Given the description of an element on the screen output the (x, y) to click on. 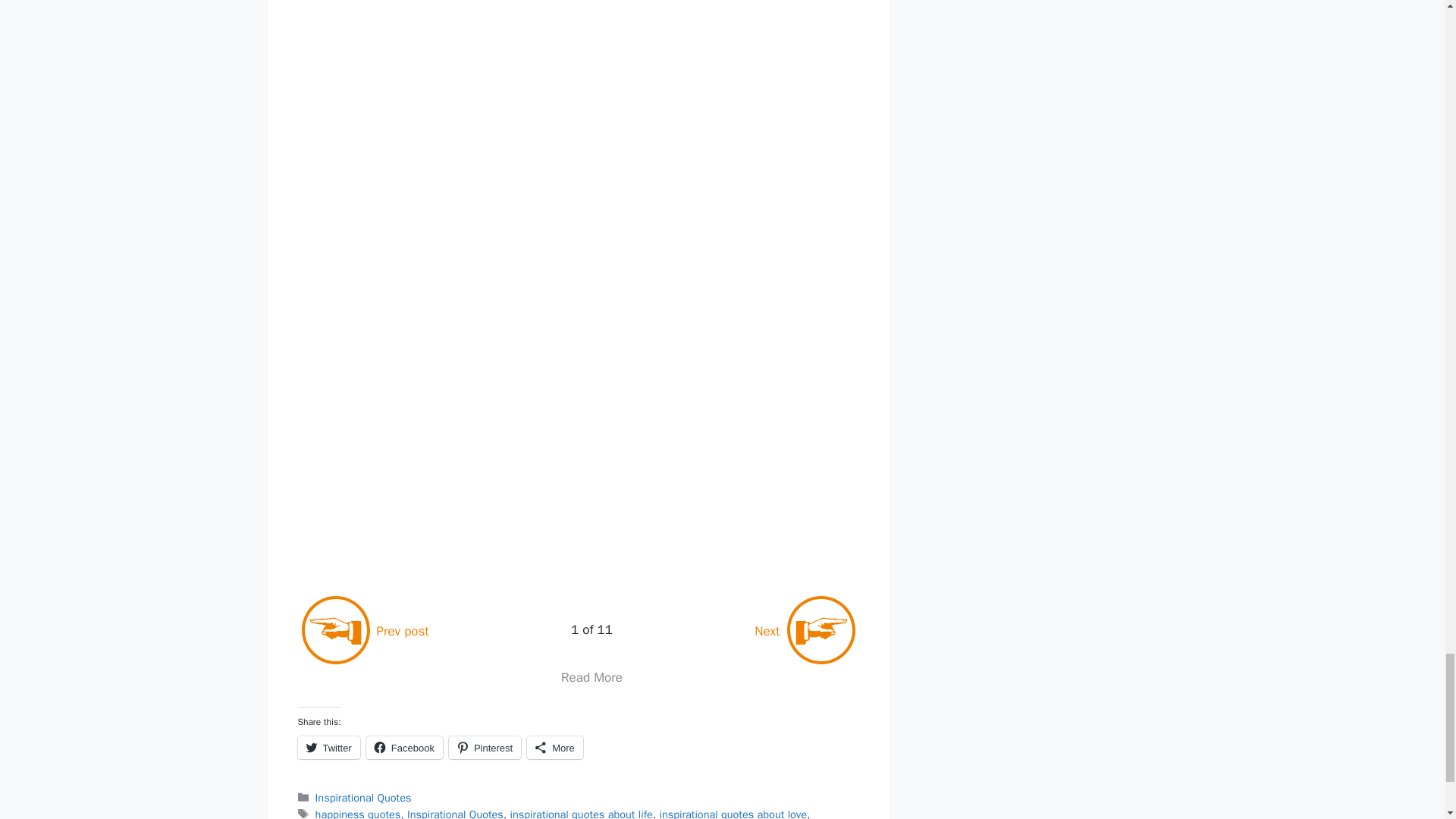
happiness quotes (358, 813)
Prev post (363, 631)
Facebook (404, 747)
Click to share on Pinterest (484, 747)
Pinterest (484, 747)
inspirational quotes about life (581, 813)
Next (805, 631)
More (555, 747)
inspirational quotes about love (732, 813)
